Given the description of an element on the screen output the (x, y) to click on. 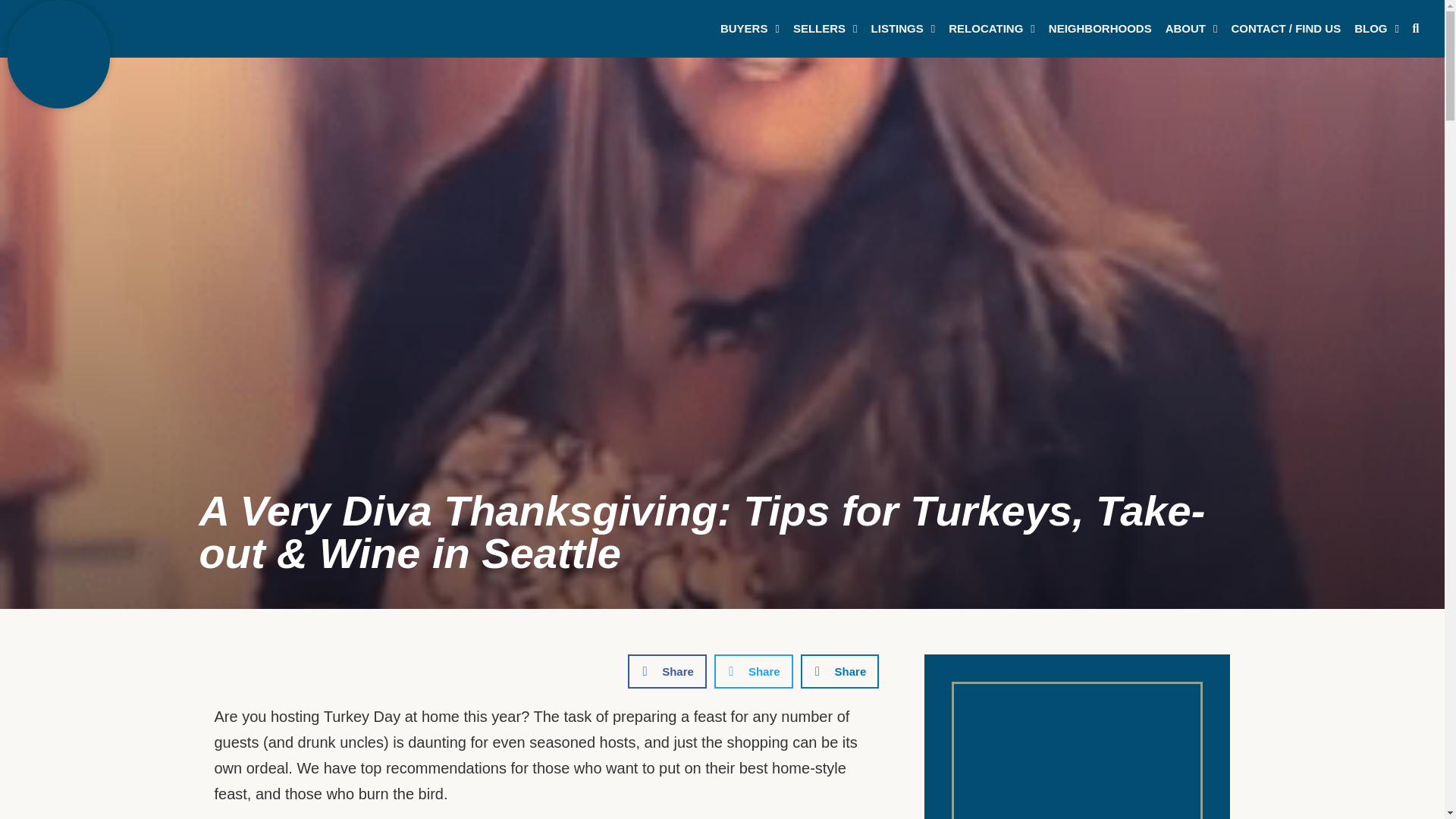
LISTINGS (903, 28)
BUYERS (749, 28)
SELLERS (825, 28)
ABOUT (1191, 28)
RELOCATING (992, 28)
NEIGHBORHOODS (1100, 28)
